Given the description of an element on the screen output the (x, y) to click on. 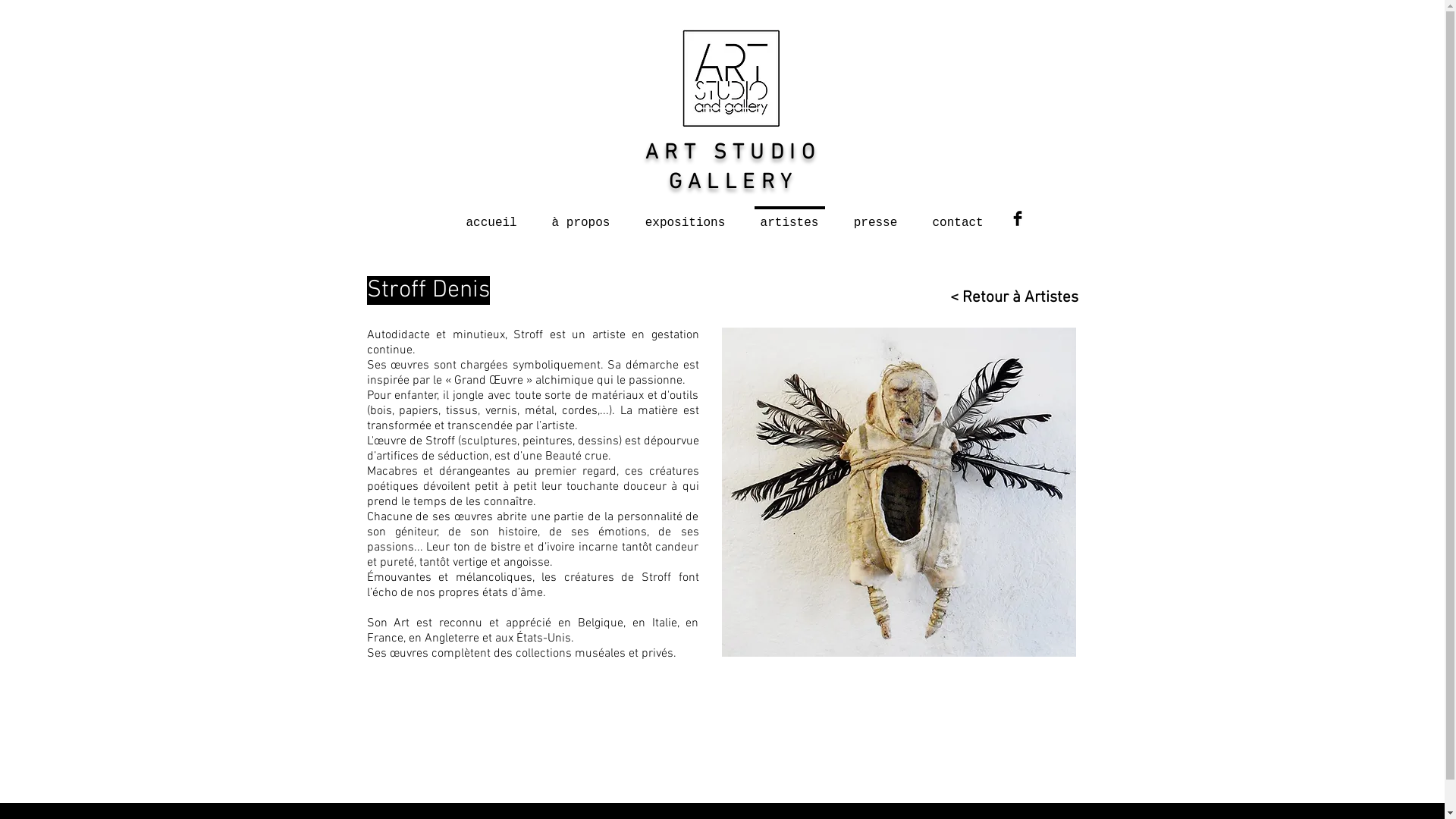
artistes Element type: text (789, 215)
GALLERY Element type: text (732, 182)
accueil Element type: text (491, 215)
expositions Element type: text (685, 215)
artstudio-2x2.jpg Element type: hover (729, 77)
contact Element type: text (957, 215)
ART STUDIO Element type: text (732, 153)
presse Element type: text (874, 215)
